Given the description of an element on the screen output the (x, y) to click on. 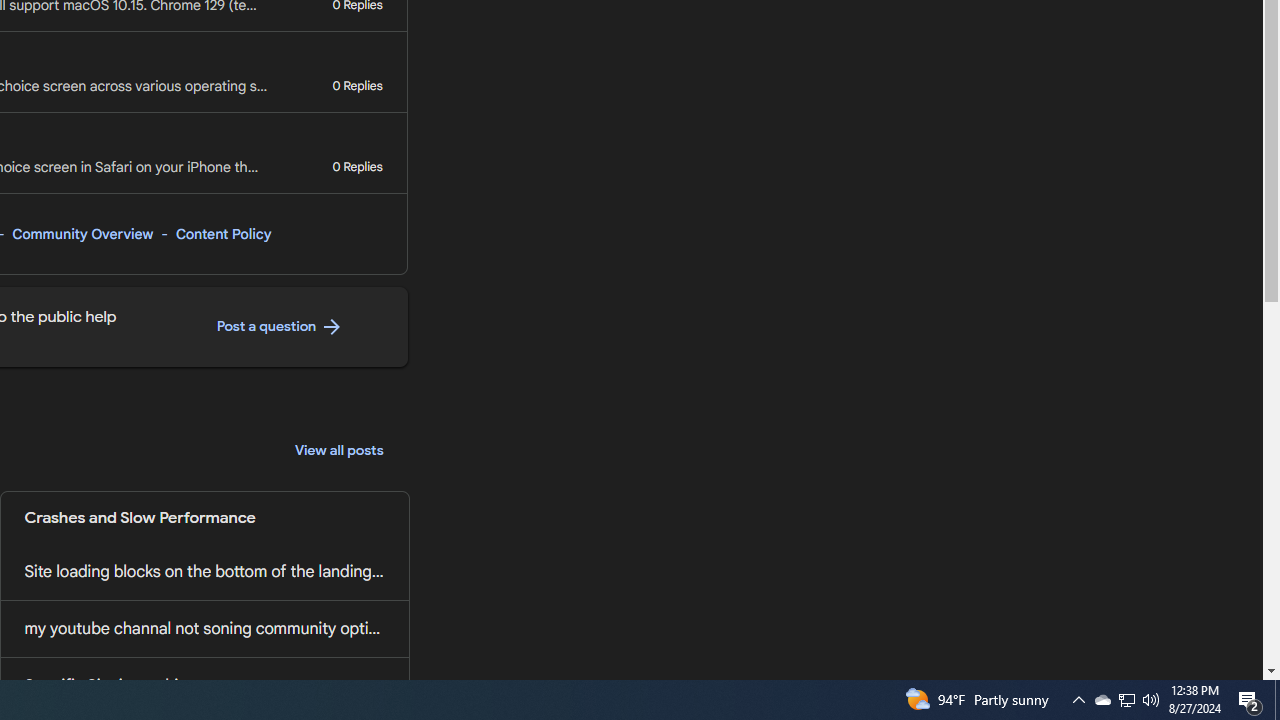
Content Policy (223, 233)
Community Overview (82, 233)
View all posts (339, 450)
Post a question  (280, 327)
